Given the description of an element on the screen output the (x, y) to click on. 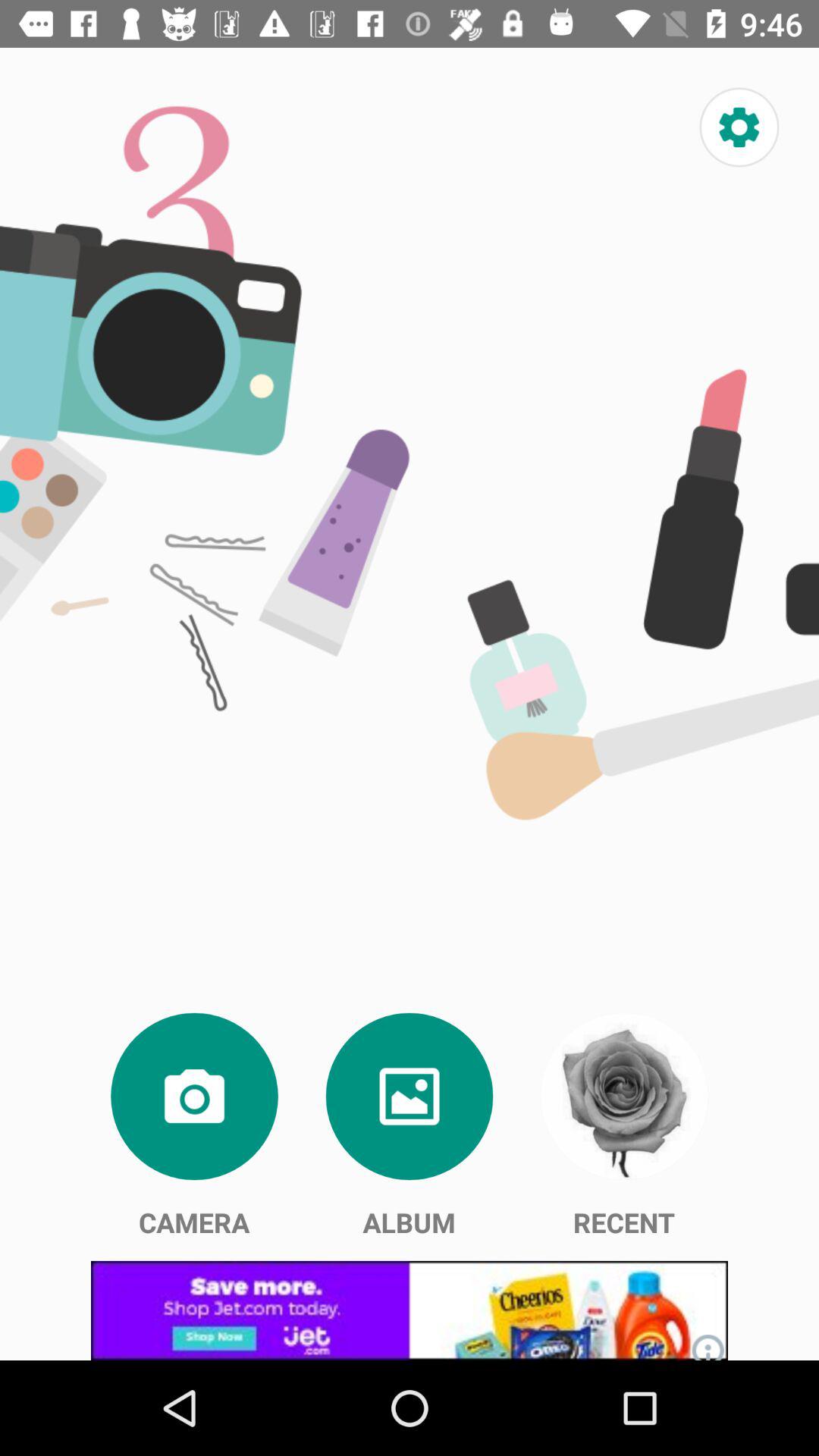
go to settings (739, 127)
